Given the description of an element on the screen output the (x, y) to click on. 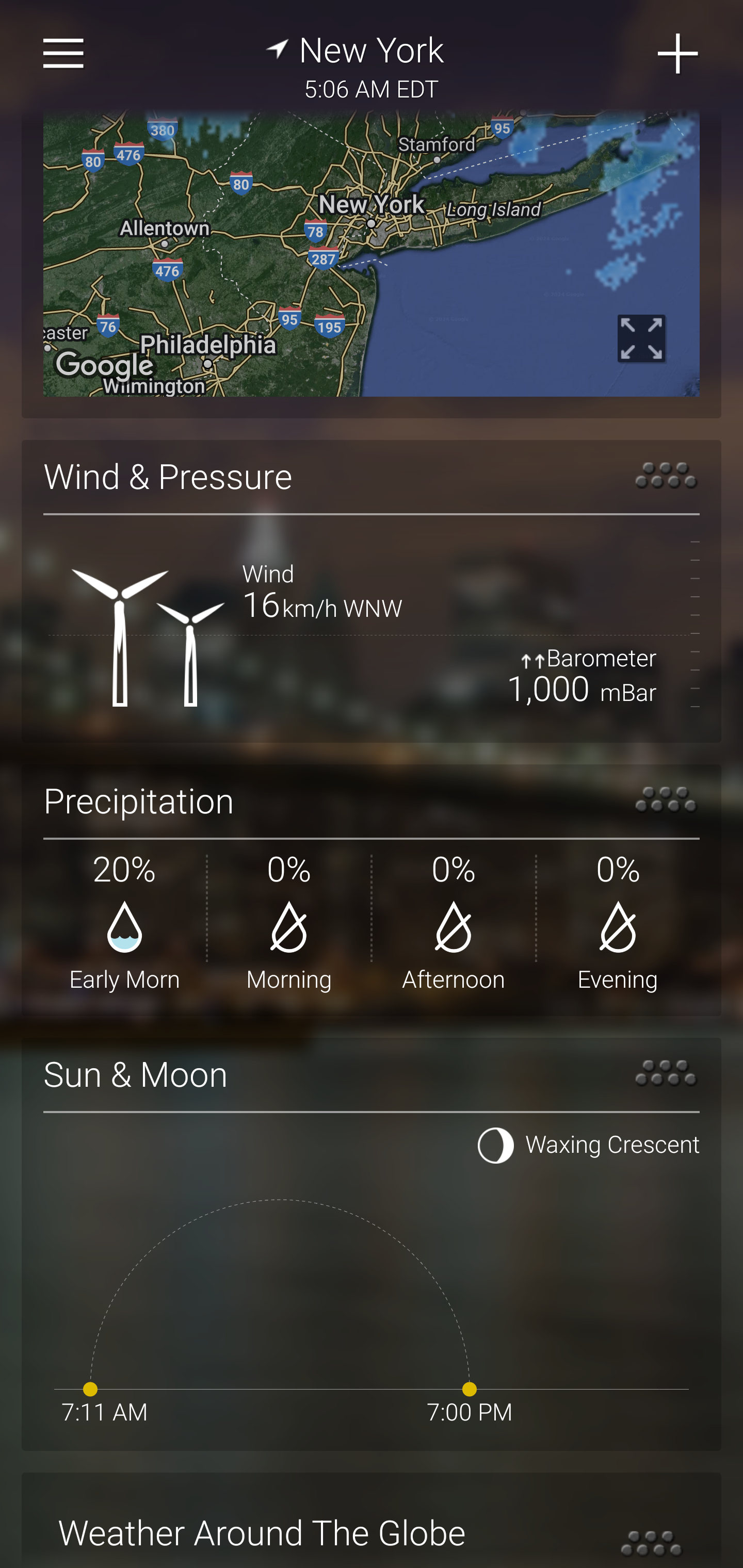
Sidebar (64, 54)
Add City (678, 53)
Google Map (371, 252)
